Given the description of an element on the screen output the (x, y) to click on. 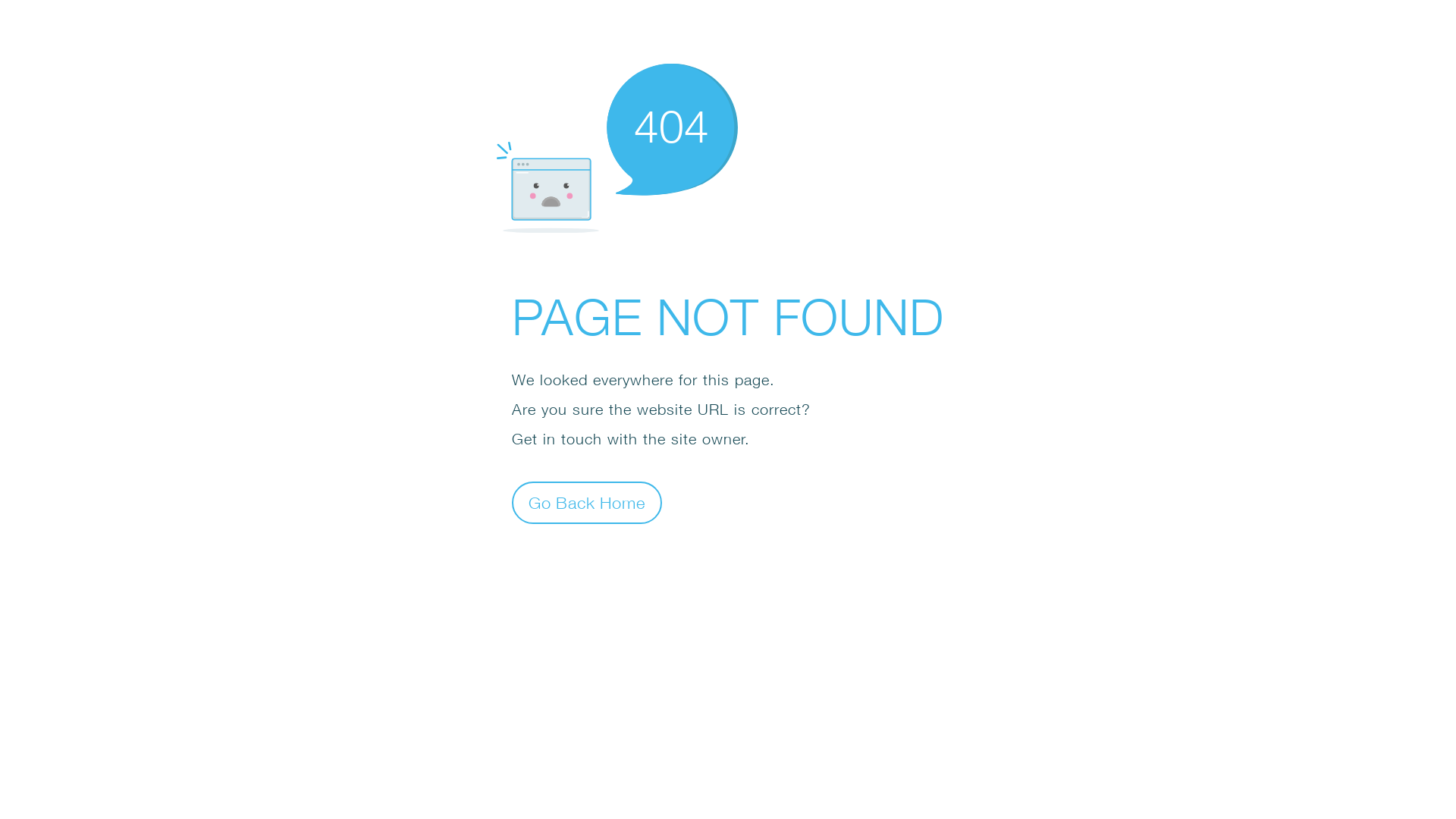
Go Back Home Element type: text (586, 502)
